Given the description of an element on the screen output the (x, y) to click on. 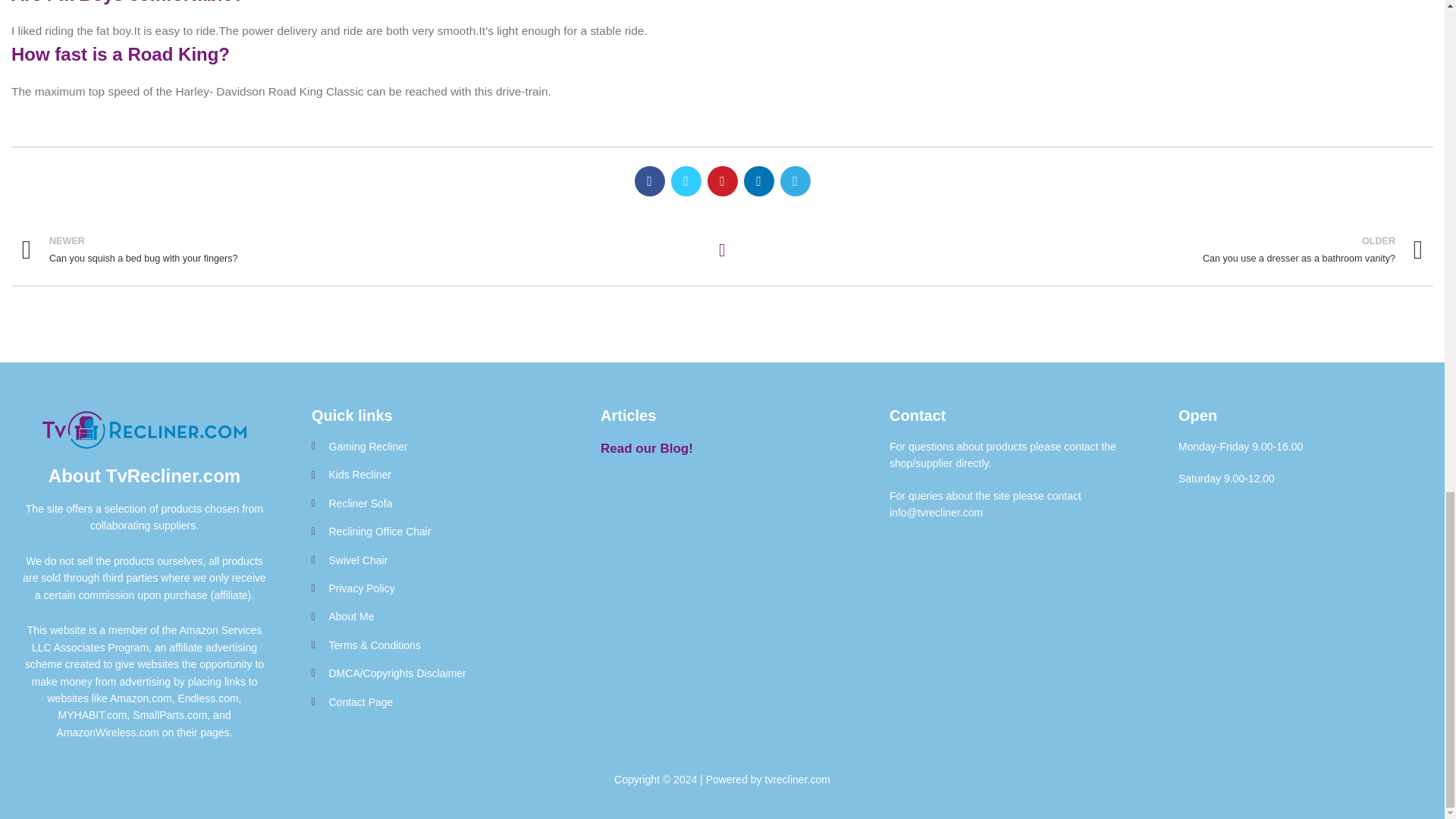
Recliner Sofa (432, 503)
Gaming Recliner (361, 249)
Reclining Office Chair (432, 446)
Kids Recliner (432, 531)
Swivel Chair (432, 474)
Back to list (1082, 249)
Privacy Policy (432, 560)
About Me (722, 250)
